Given the description of an element on the screen output the (x, y) to click on. 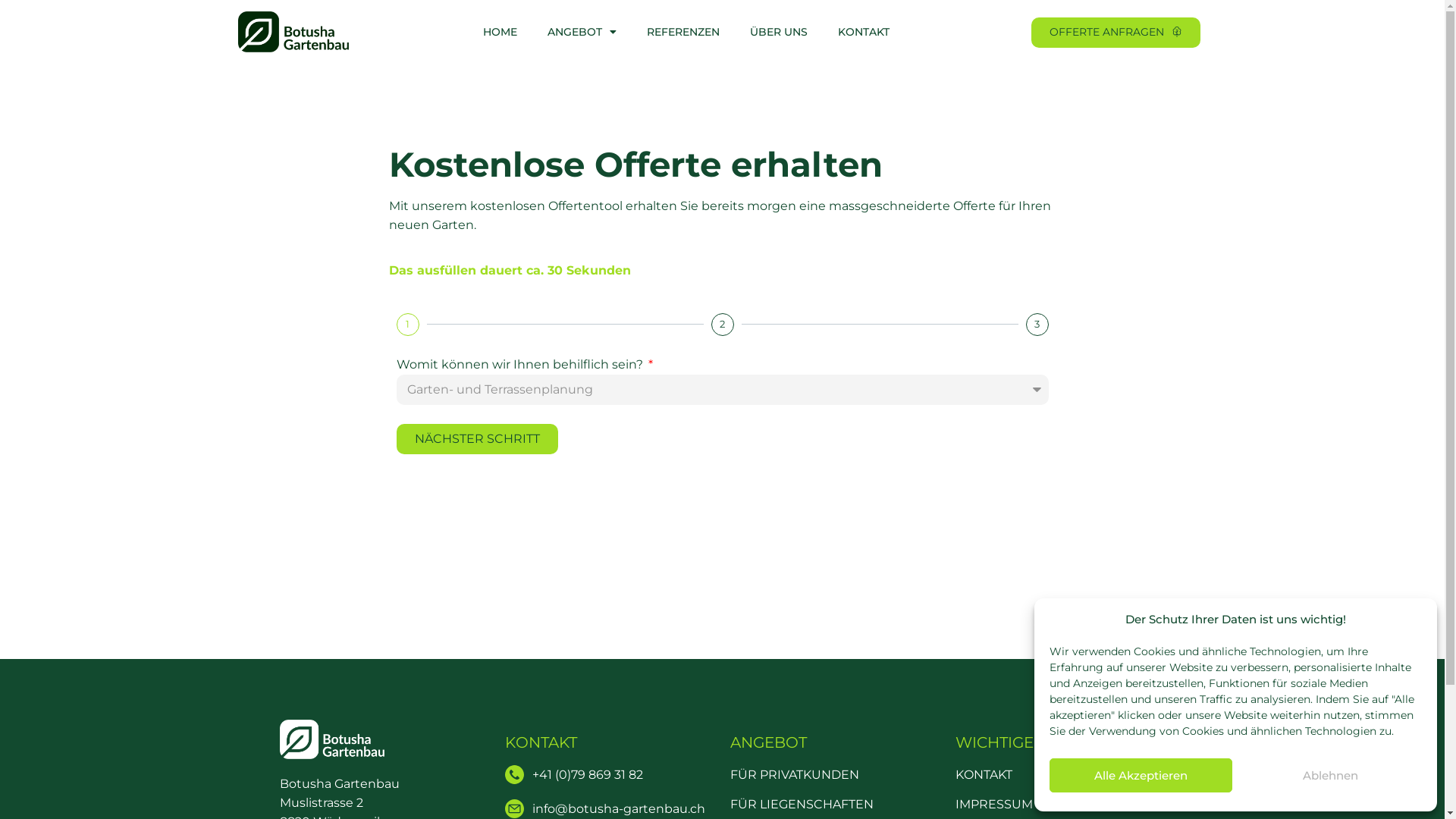
info@botusha-gartenbau.ch Element type: text (610, 808)
HOME Element type: text (499, 31)
OFFERTE ANFRAGEN Element type: text (1115, 32)
KONTAKT Element type: text (862, 31)
REFERENZEN Element type: text (682, 31)
+41 (0)79 869 31 82 Element type: text (610, 774)
KONTAKT Element type: text (541, 742)
Ablehnen Element type: text (1330, 775)
ANGEBOT Element type: text (581, 31)
ANGEBOT Element type: text (767, 742)
IMPRESSUM Element type: text (993, 804)
Alle Akzeptieren Element type: text (1140, 775)
KONTAKT Element type: text (983, 774)
